Given the description of an element on the screen output the (x, y) to click on. 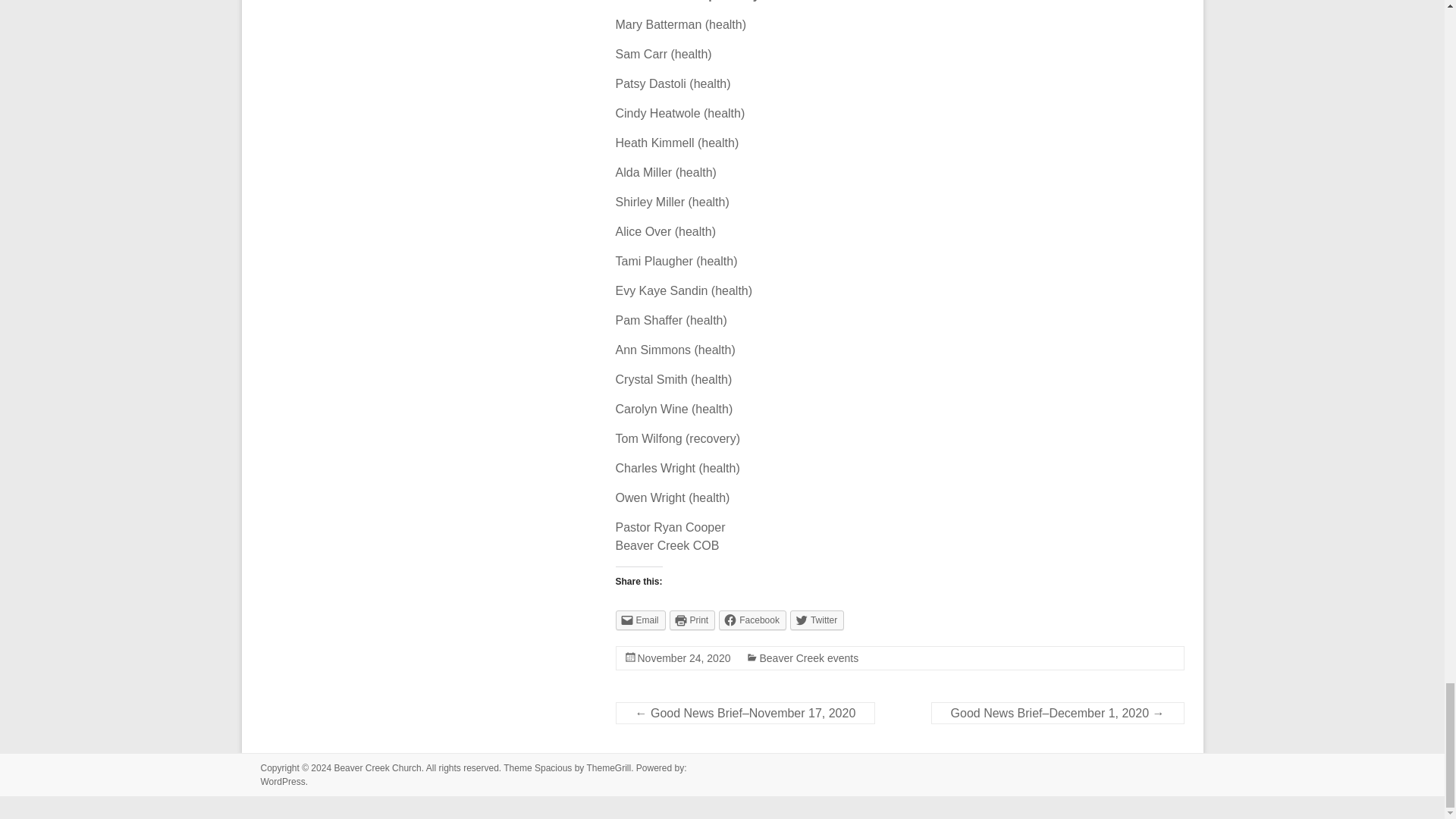
9:05 am (683, 657)
Spacious (553, 767)
Spacious (553, 767)
Print (692, 619)
Facebook (752, 619)
November 24, 2020 (683, 657)
Click to email a link to a friend (640, 619)
Click to print (692, 619)
Beaver Creek Church (376, 767)
Twitter (817, 619)
